Given the description of an element on the screen output the (x, y) to click on. 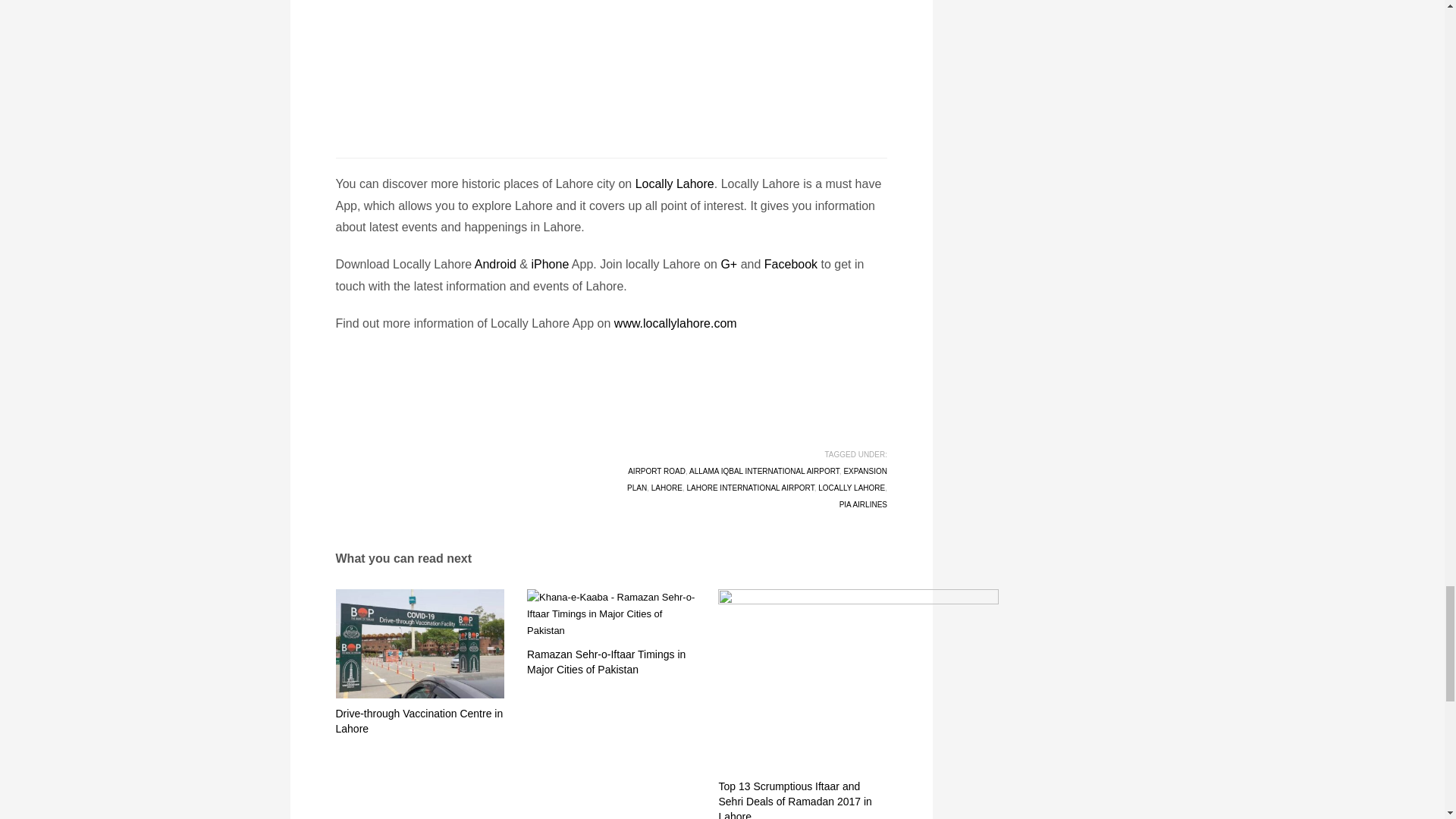
Ramazan Sehr-o-Iftaar Timings in Major Cities of Pakistan (611, 613)
